Given the description of an element on the screen output the (x, y) to click on. 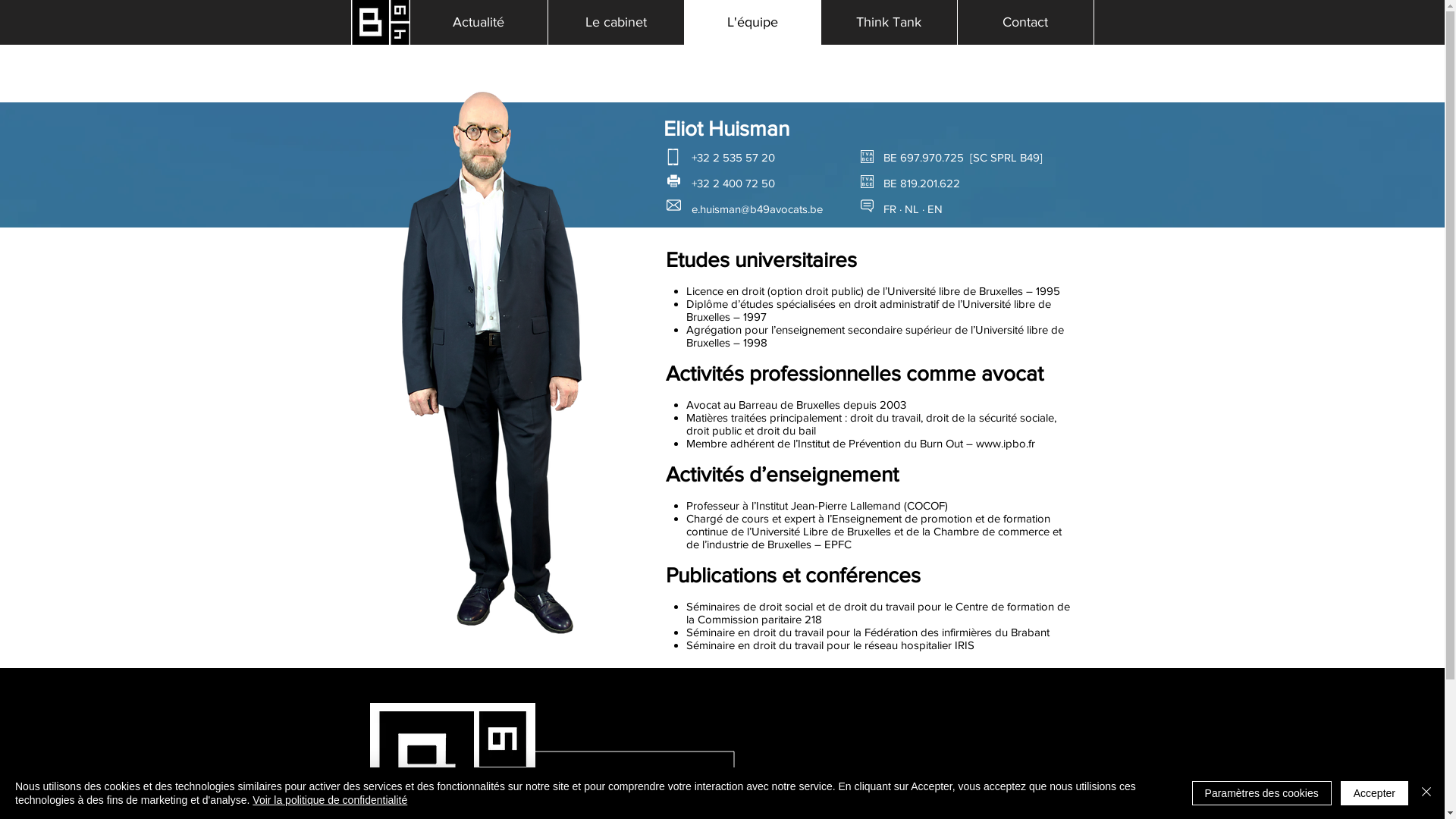
www.ipbo.fr Element type: text (1004, 442)
Contact Element type: text (1025, 22)
+32 2 535 57 20 Element type: text (626, 785)
Le cabinet Element type: text (615, 22)
tva-bce-blanc.png Element type: hover (865, 156)
+32 2 535 57 20 Element type: text (733, 156)
bulle_langage.png Element type: hover (865, 205)
phone.png Element type: hover (672, 156)
tva-bce-blanc.png Element type: hover (865, 181)
Accueil Element type: hover (379, 22)
Accepter Element type: text (1374, 793)
e.huisman@b49avocats.be Element type: text (756, 208)
Think Tank Element type: text (888, 22)
phone.png Element type: hover (562, 786)
